Given the description of an element on the screen output the (x, y) to click on. 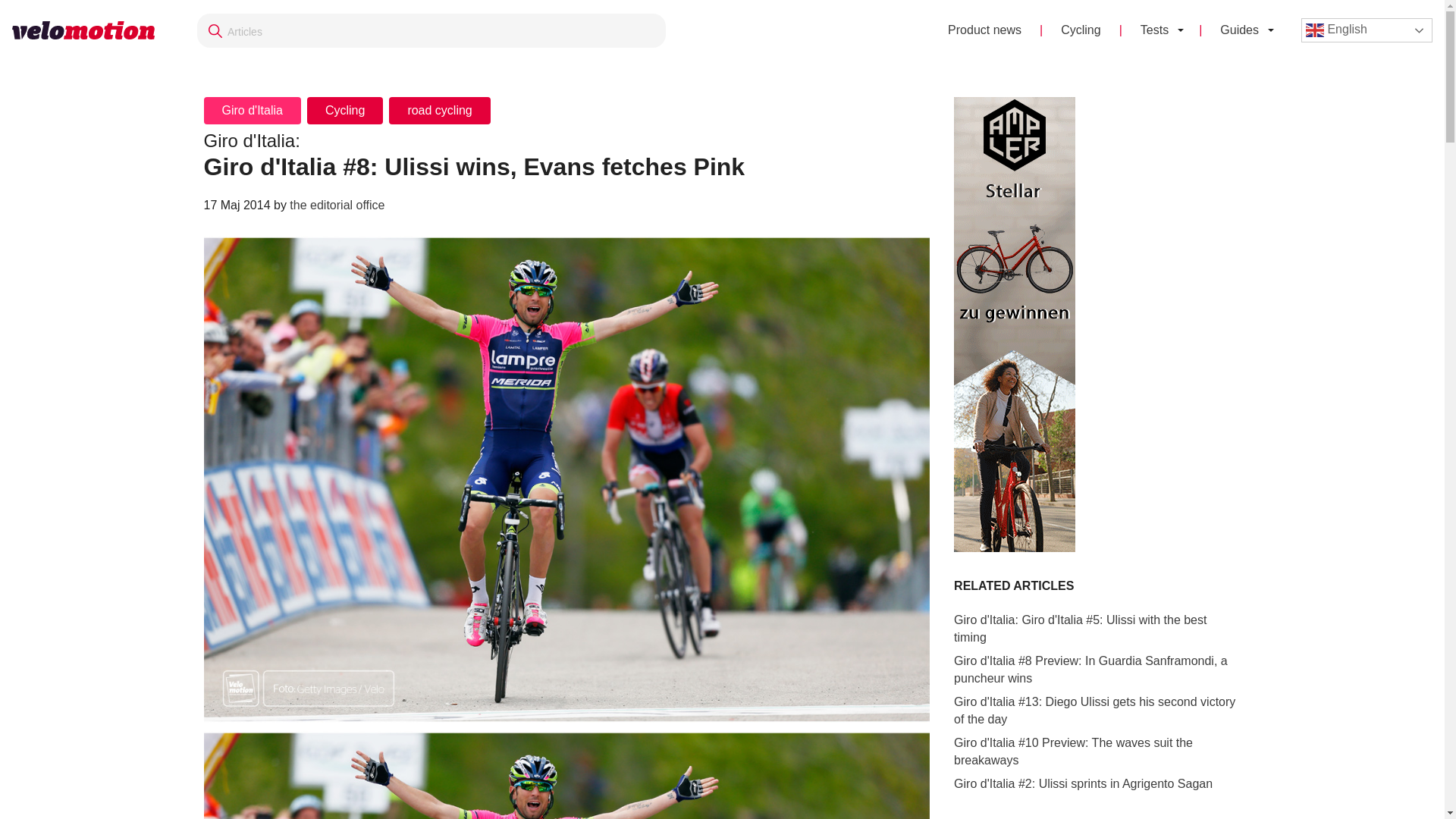
Guides (1230, 30)
Tests (1145, 30)
Suche starten (430, 30)
road cycling (438, 110)
Search icon (215, 30)
Cycling (1080, 30)
English (1366, 30)
Product news (984, 30)
Velomotion Magazine (89, 30)
the editorial office (336, 205)
Giro d'Italia (251, 110)
Cycling (344, 110)
